Given the description of an element on the screen output the (x, y) to click on. 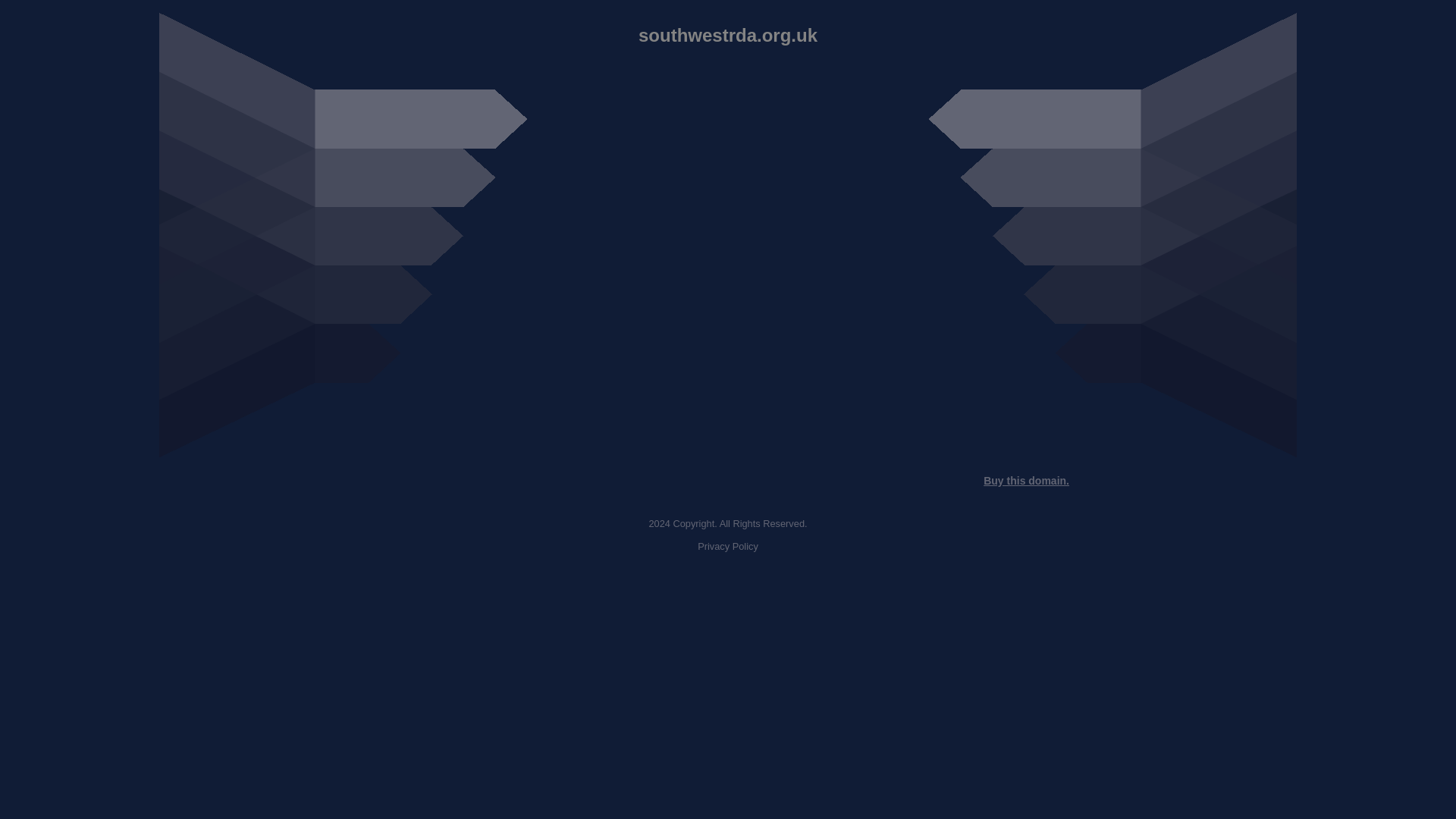
Buy this domain. (1026, 480)
Privacy Policy (727, 546)
